Given the description of an element on the screen output the (x, y) to click on. 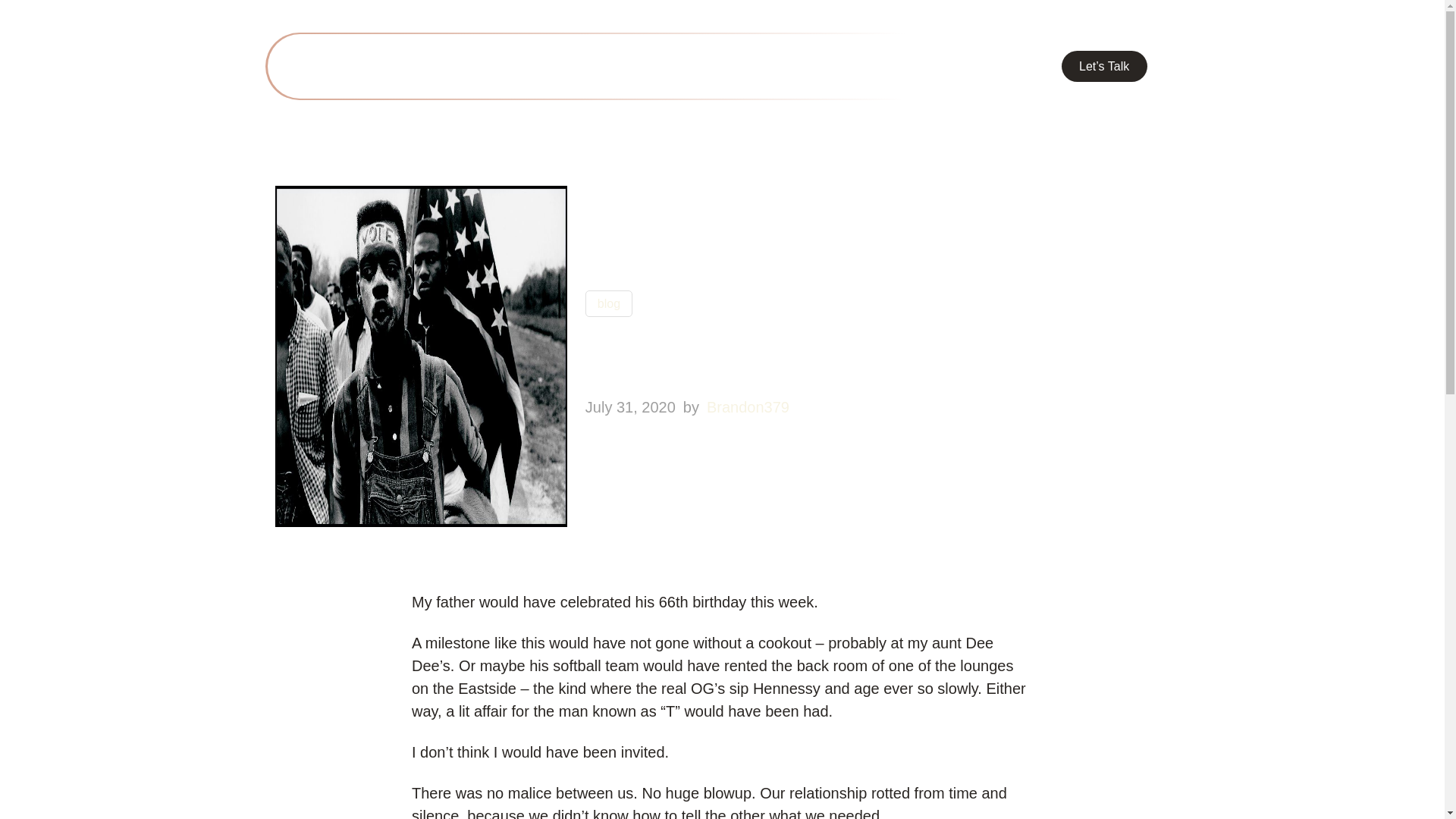
Brandon379 (747, 406)
blog (608, 303)
Brandon Anderson (382, 65)
